Given the description of an element on the screen output the (x, y) to click on. 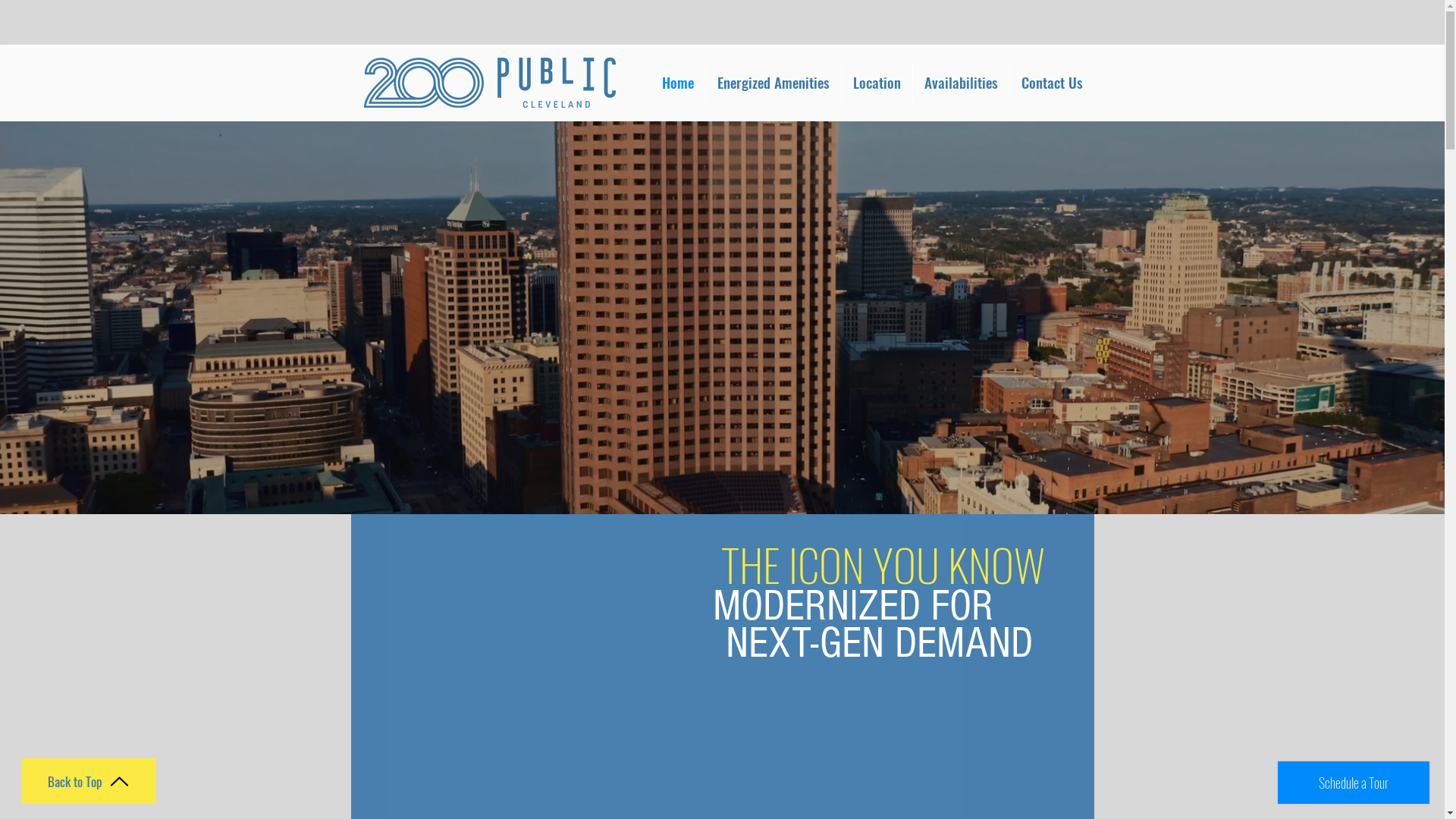
Location Element type: text (876, 81)
Availabilities Element type: text (961, 81)
Contact Us Element type: text (1052, 81)
Energized Amenities Element type: text (772, 81)
Home Element type: text (677, 81)
Back to Top Element type: text (88, 780)
